Given the description of an element on the screen output the (x, y) to click on. 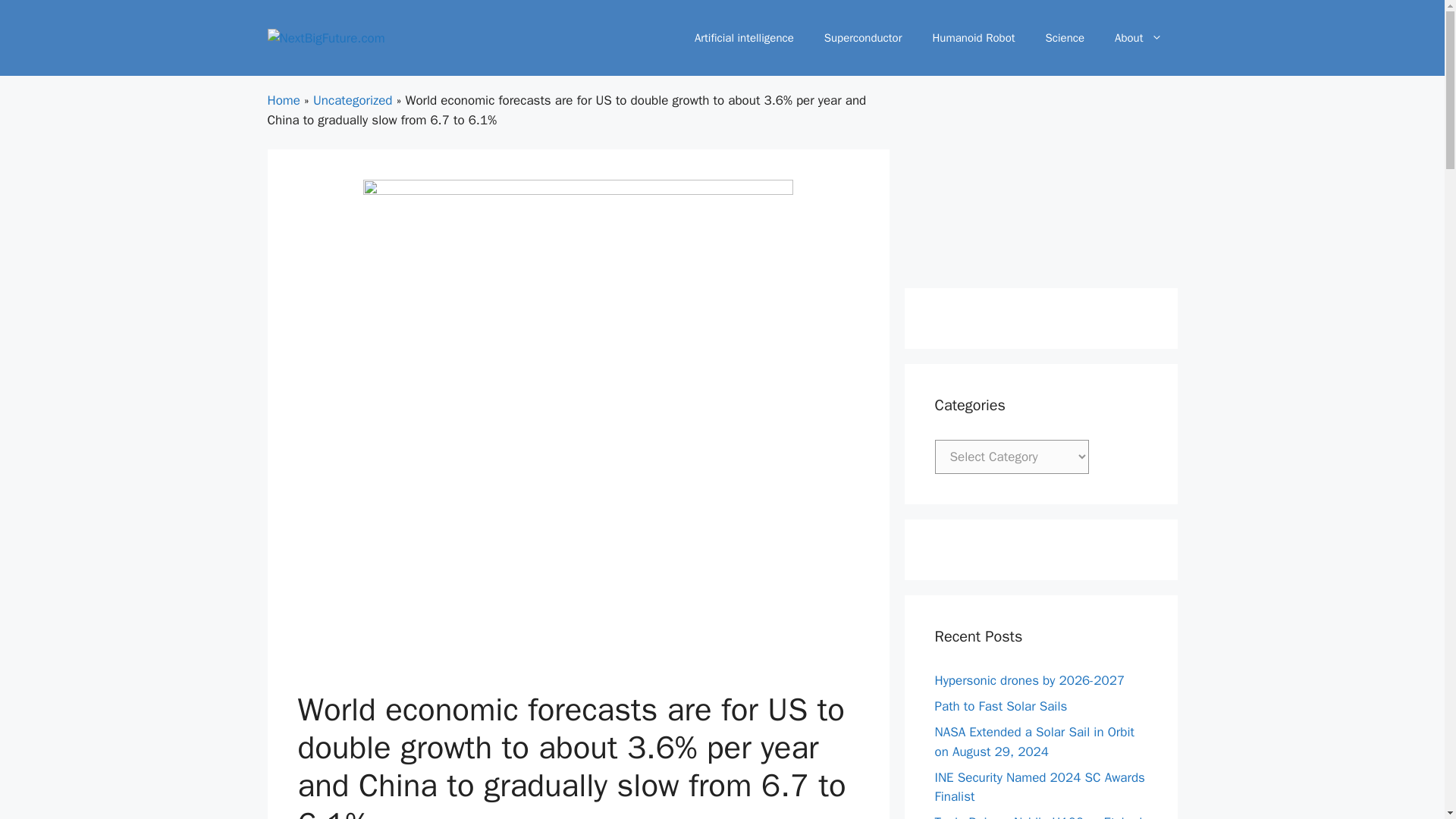
Humanoid Robot (973, 37)
Hypersonic drones by 2026-2027 (1029, 680)
Home (282, 100)
Science (1065, 37)
Path to Fast Solar Sails (1000, 706)
Superconductor (863, 37)
Uncategorized (353, 100)
Artificial intelligence (744, 37)
About (1137, 37)
